Given the description of an element on the screen output the (x, y) to click on. 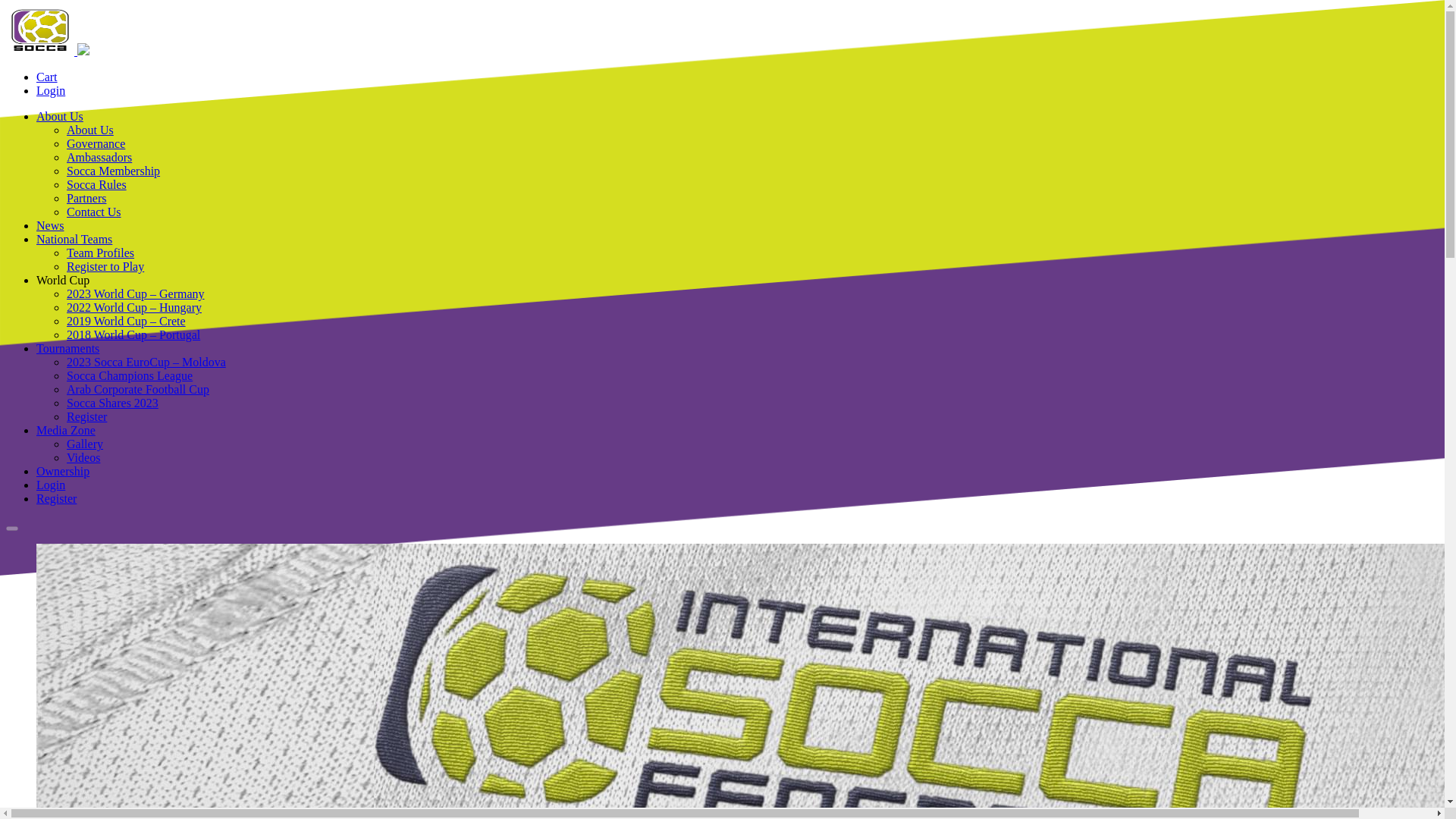
Gallery (84, 443)
Contact Us (93, 211)
About Us (59, 115)
Register to Play (105, 266)
Socca Shares 2023 (112, 402)
About Us (89, 129)
Register (56, 498)
Socca Membership (113, 170)
Ambassadors (99, 156)
Tournaments (67, 348)
National Teams (74, 238)
Team Profiles (99, 252)
Cart (47, 76)
Partners (86, 197)
Register (86, 416)
